Given the description of an element on the screen output the (x, y) to click on. 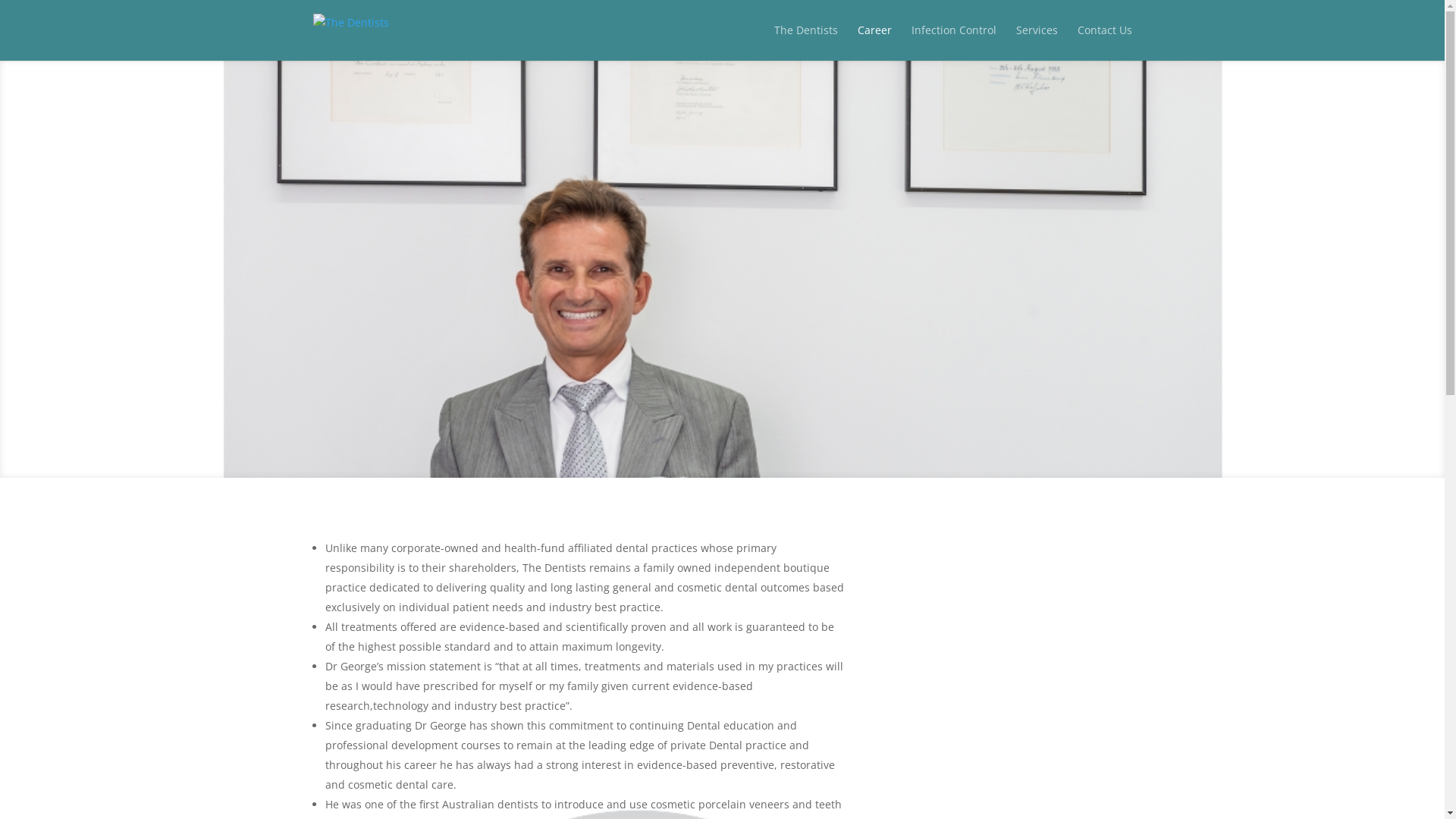
Services Element type: text (1036, 40)
Contact Us Element type: text (1103, 40)
Infection Control Element type: text (953, 40)
Career Element type: text (873, 40)
The Dentists Element type: text (805, 40)
